Given the description of an element on the screen output the (x, y) to click on. 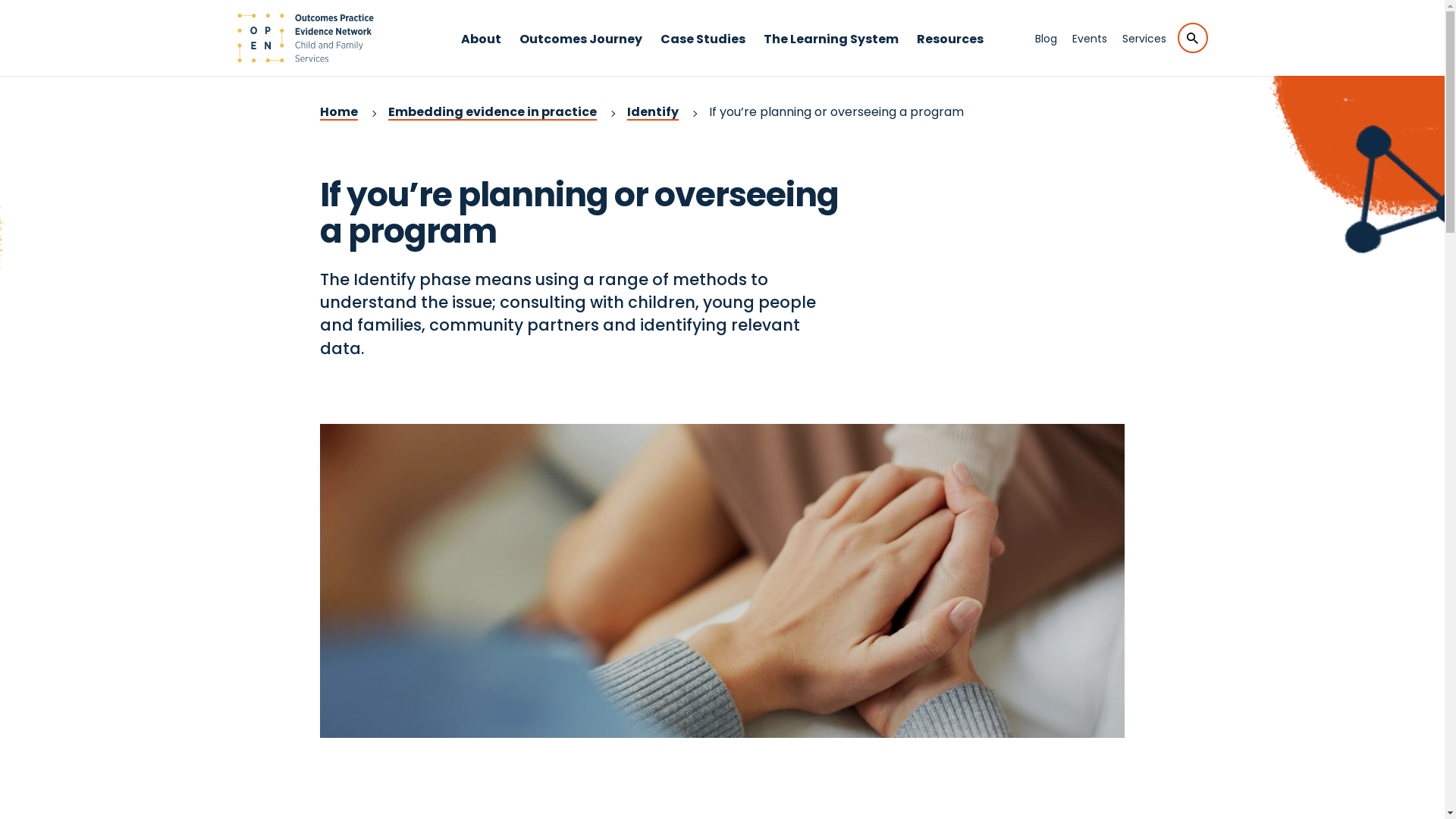
Embedding evidence in practice Element type: text (492, 111)
Resources Element type: text (949, 52)
Events Element type: text (1089, 38)
Home Element type: text (338, 111)
Identify Element type: text (652, 111)
Services Element type: text (1144, 38)
Outcomes Journey Element type: text (580, 52)
The Learning System Element type: text (830, 52)
Blog Element type: text (1045, 38)
Go to home page Element type: hover (304, 37)
Case Studies Element type: text (702, 52)
About Element type: text (481, 52)
